Given the description of an element on the screen output the (x, y) to click on. 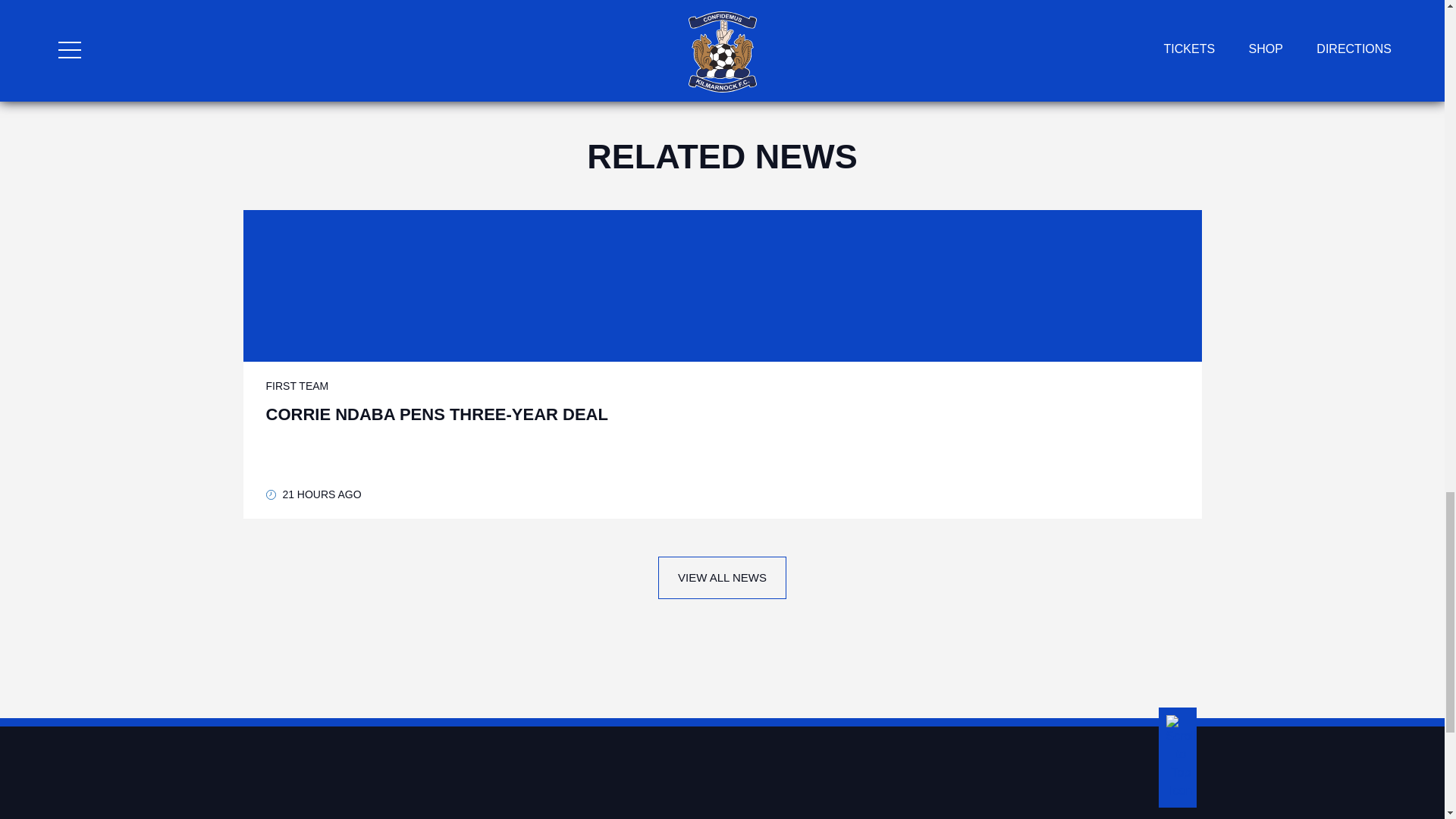
VIEW ALL NEWS (722, 577)
